Given the description of an element on the screen output the (x, y) to click on. 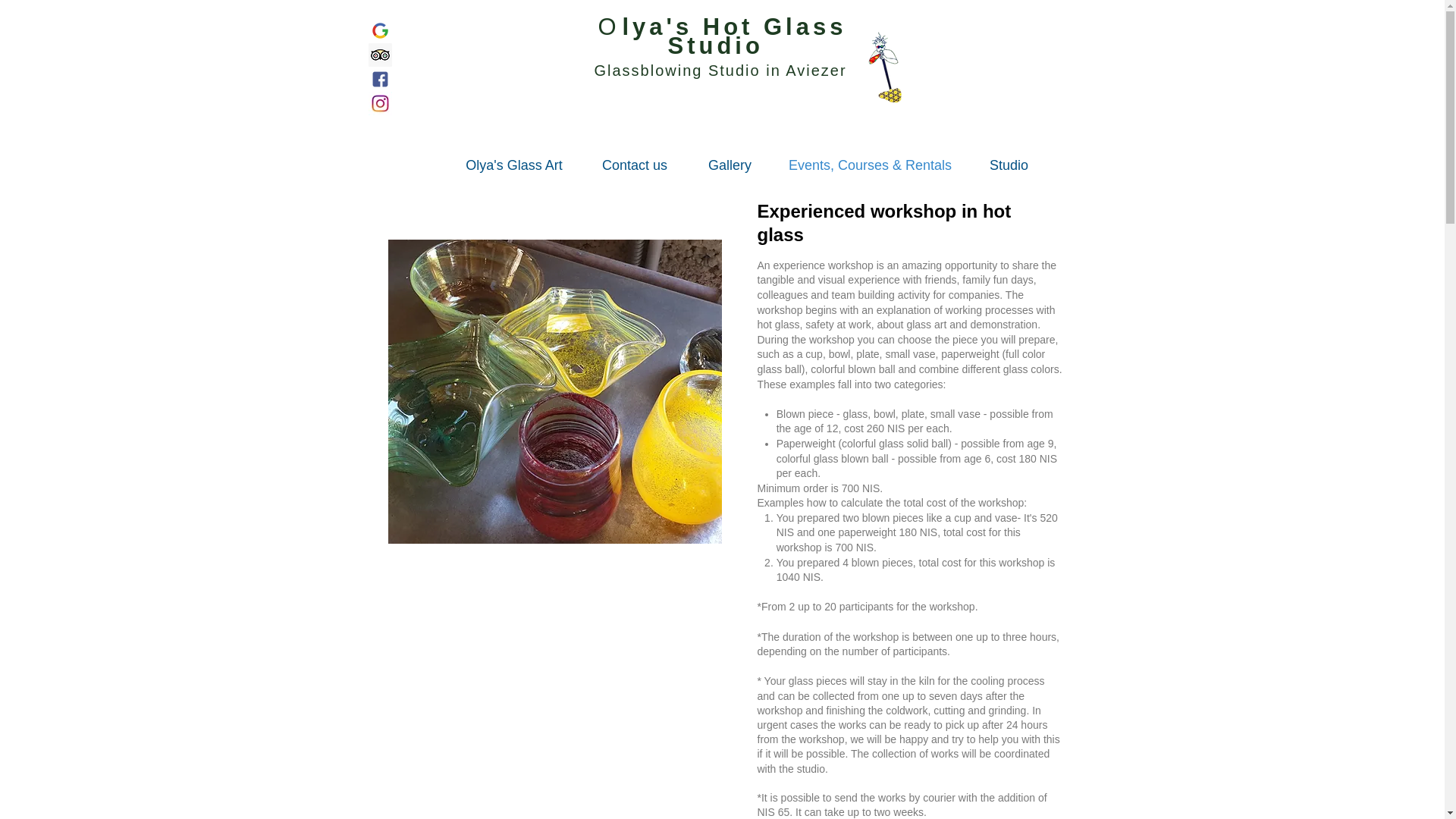
Olya's Glass Art (513, 164)
Gallery (729, 164)
Contact us (633, 164)
Studio (1009, 164)
